Given the description of an element on the screen output the (x, y) to click on. 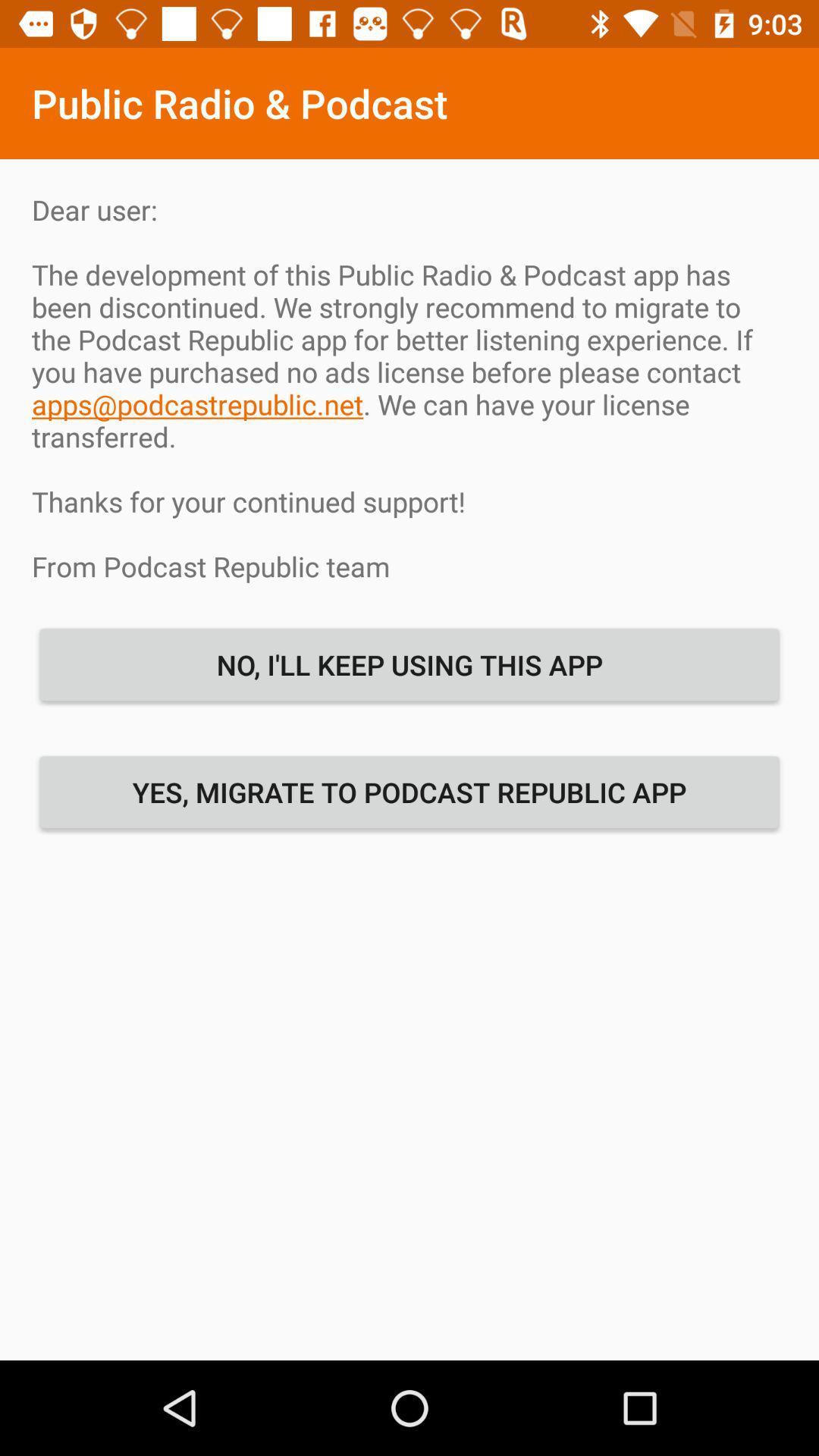
flip until yes migrate to icon (409, 792)
